Given the description of an element on the screen output the (x, y) to click on. 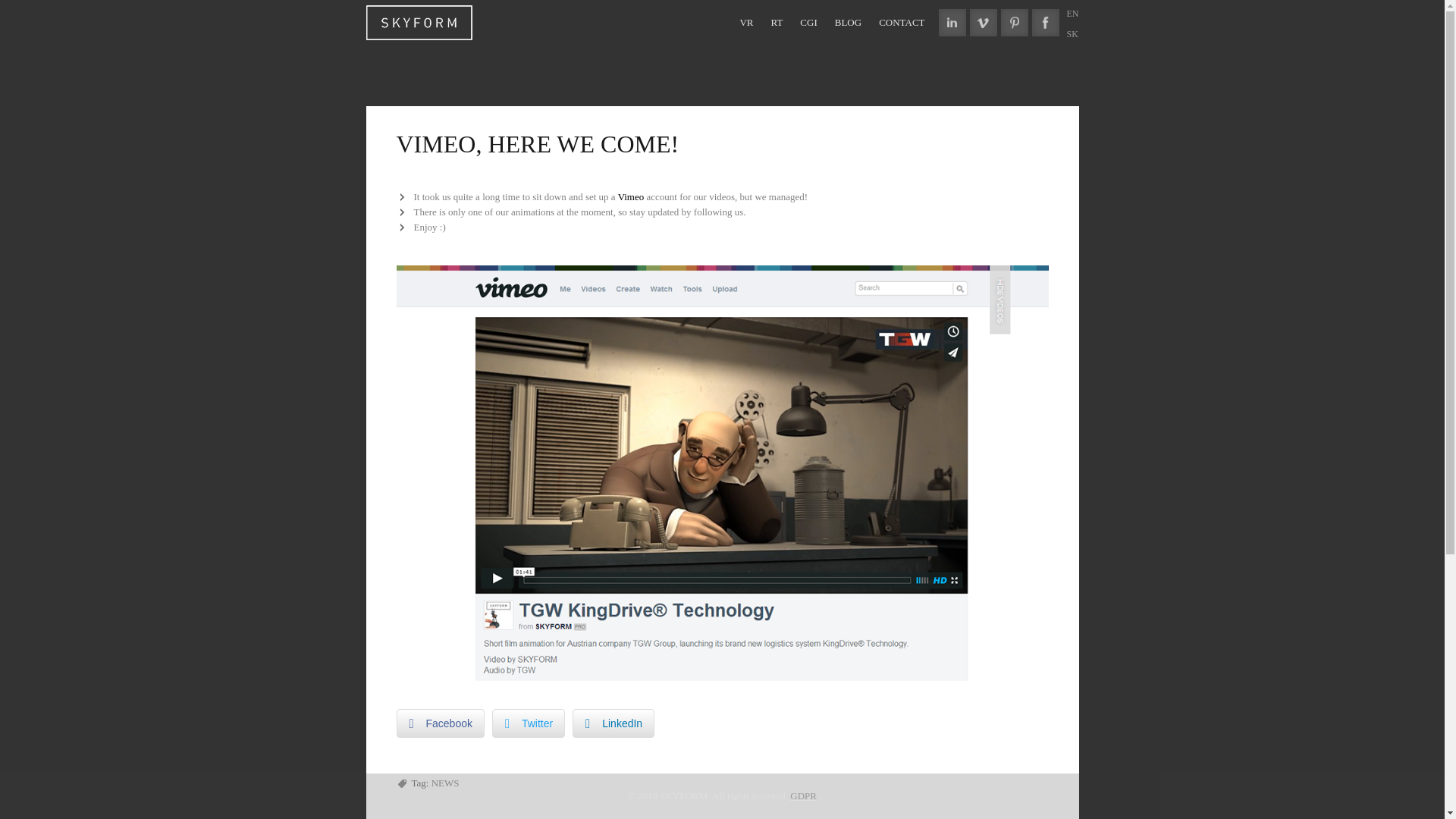
Facebook (439, 723)
Visit Pinterest page (1014, 22)
Twitter (528, 723)
CONTACT (901, 22)
SK (1071, 33)
EN (1071, 13)
Visit Vimeo page (982, 22)
GDPR (803, 795)
LinkedIn (612, 723)
Vimeo (631, 196)
Visit LinkedIn page (952, 22)
NEWS (445, 782)
Visit Facebook page (1044, 22)
SKYFORM  (418, 19)
